Given the description of an element on the screen output the (x, y) to click on. 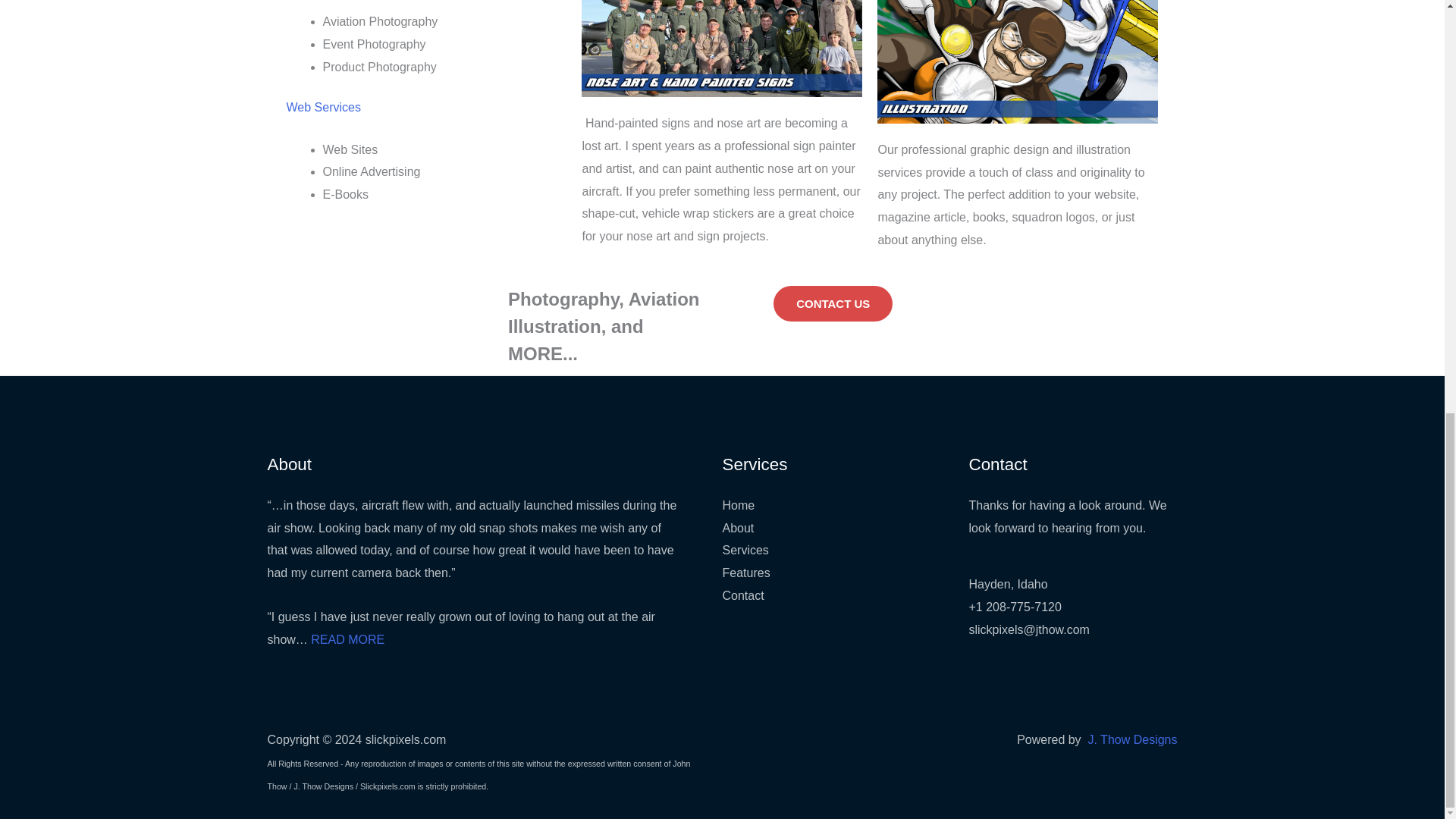
READ MORE (347, 639)
J. Thow Designs (1132, 739)
Features (746, 572)
Hayden, Idaho (1008, 584)
Contact (742, 594)
Home (738, 504)
Web Services (323, 106)
CONTACT US (832, 303)
Services (745, 549)
About (738, 527)
